Given the description of an element on the screen output the (x, y) to click on. 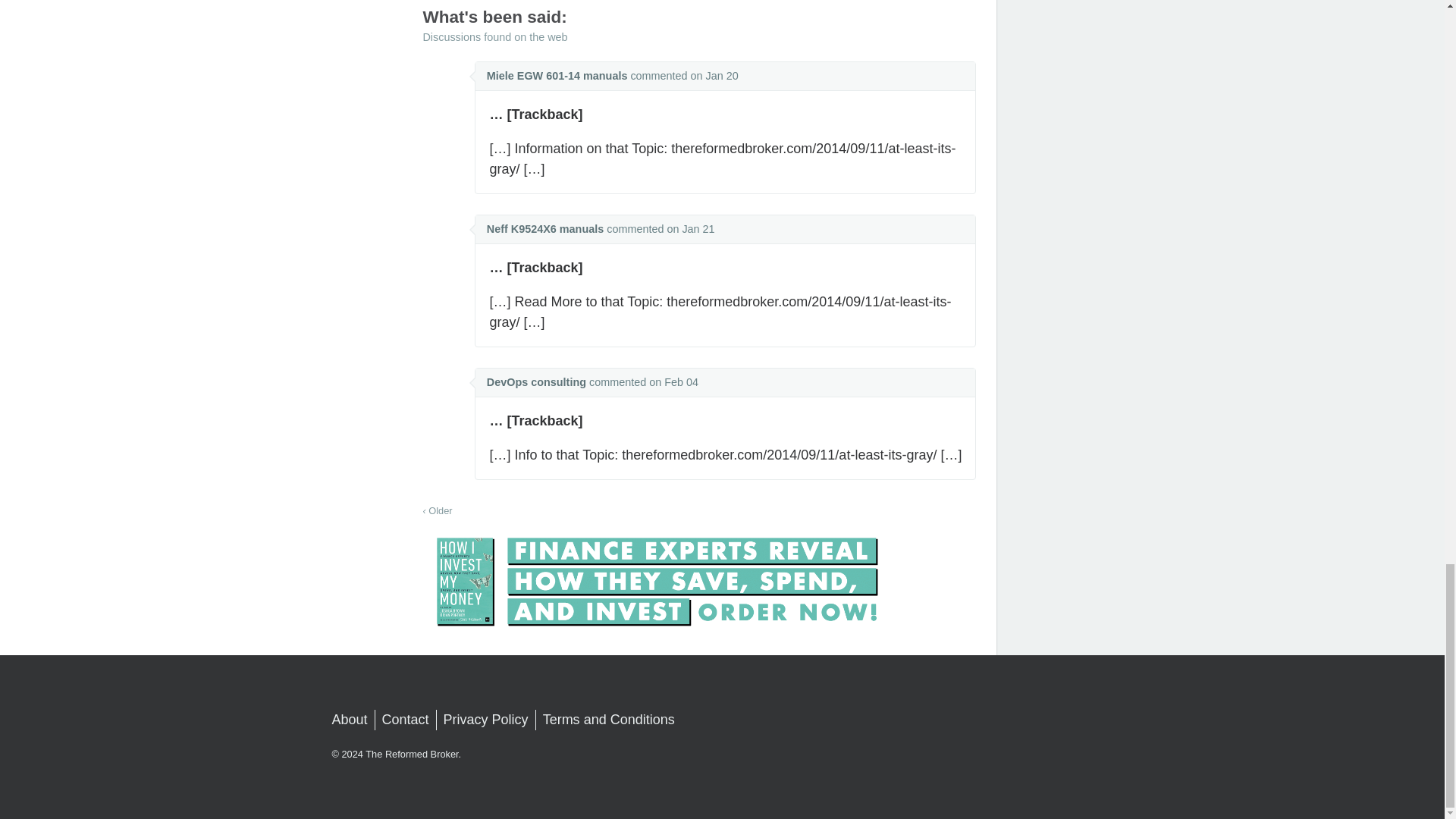
Contact (405, 720)
DevOps consulting (536, 381)
Miele EGW 601-14 manuals (556, 75)
About (349, 720)
Neff K9524X6 manuals (545, 228)
Terms and Conditions (609, 720)
Privacy Policy (486, 720)
